Given the description of an element on the screen output the (x, y) to click on. 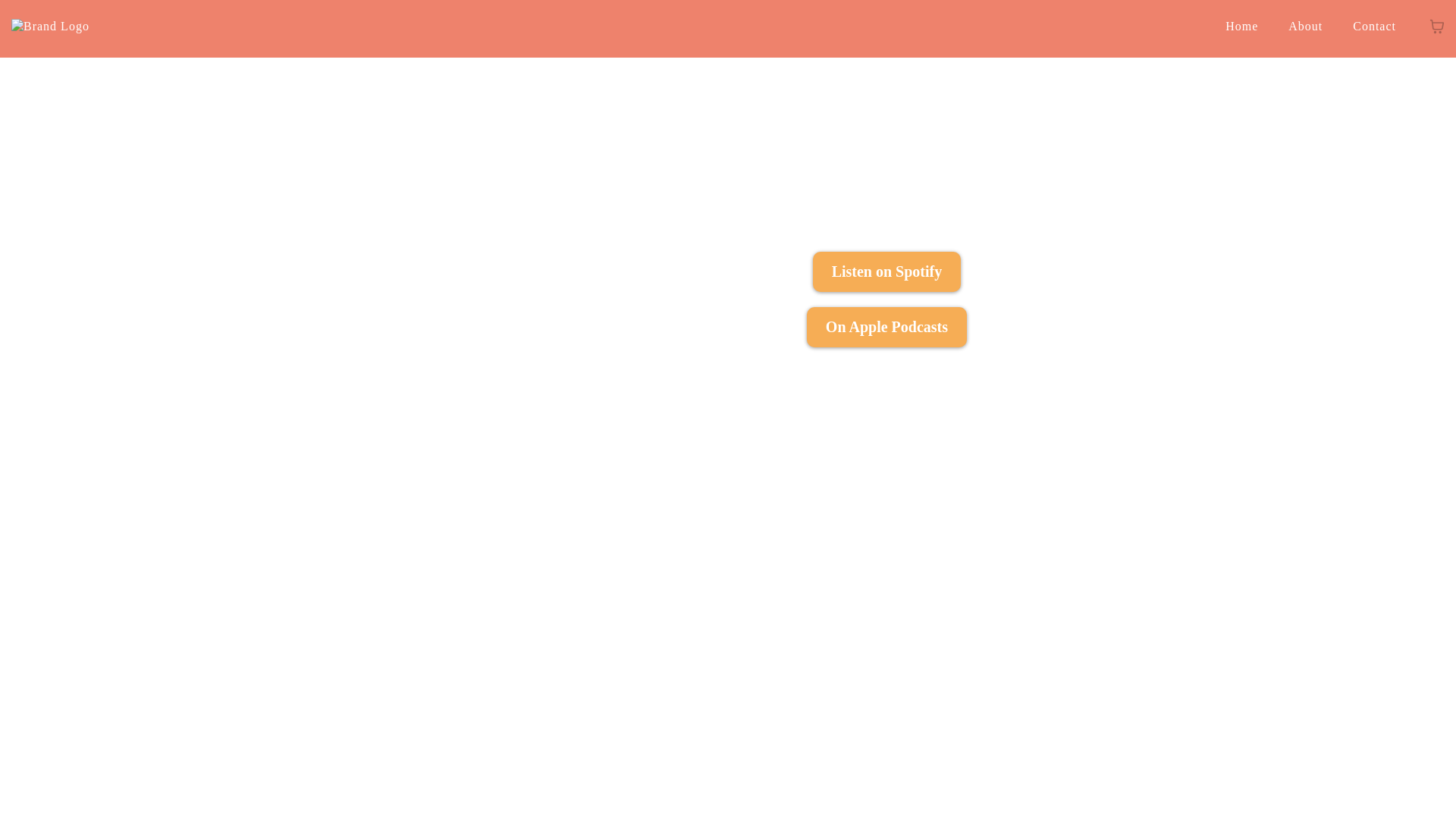
Contact (1374, 26)
Home (1240, 26)
About (1305, 26)
Listen on Spotify (886, 271)
On Apple Podcasts (886, 327)
